Given the description of an element on the screen output the (x, y) to click on. 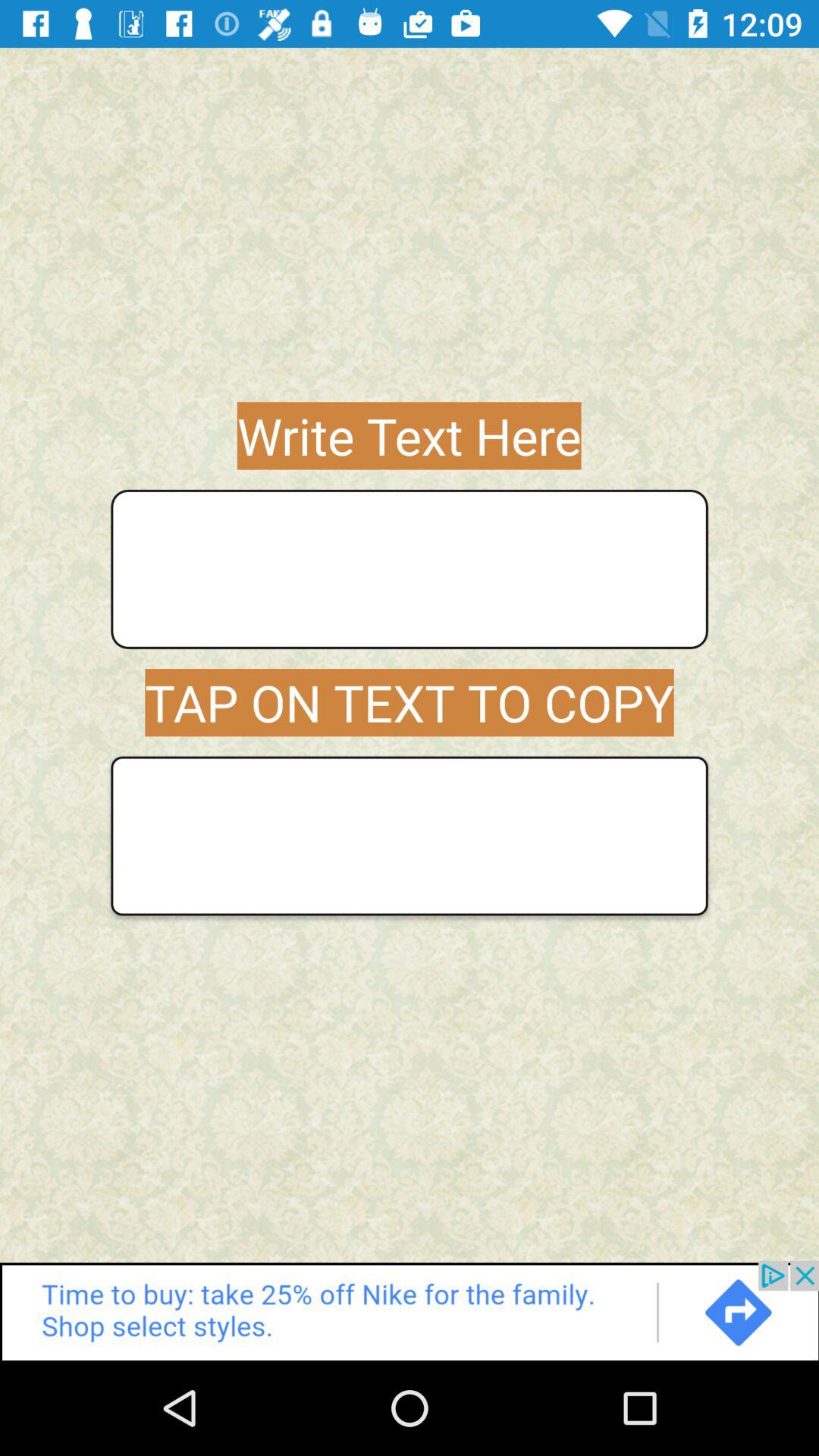
advertisement (409, 1310)
